Given the description of an element on the screen output the (x, y) to click on. 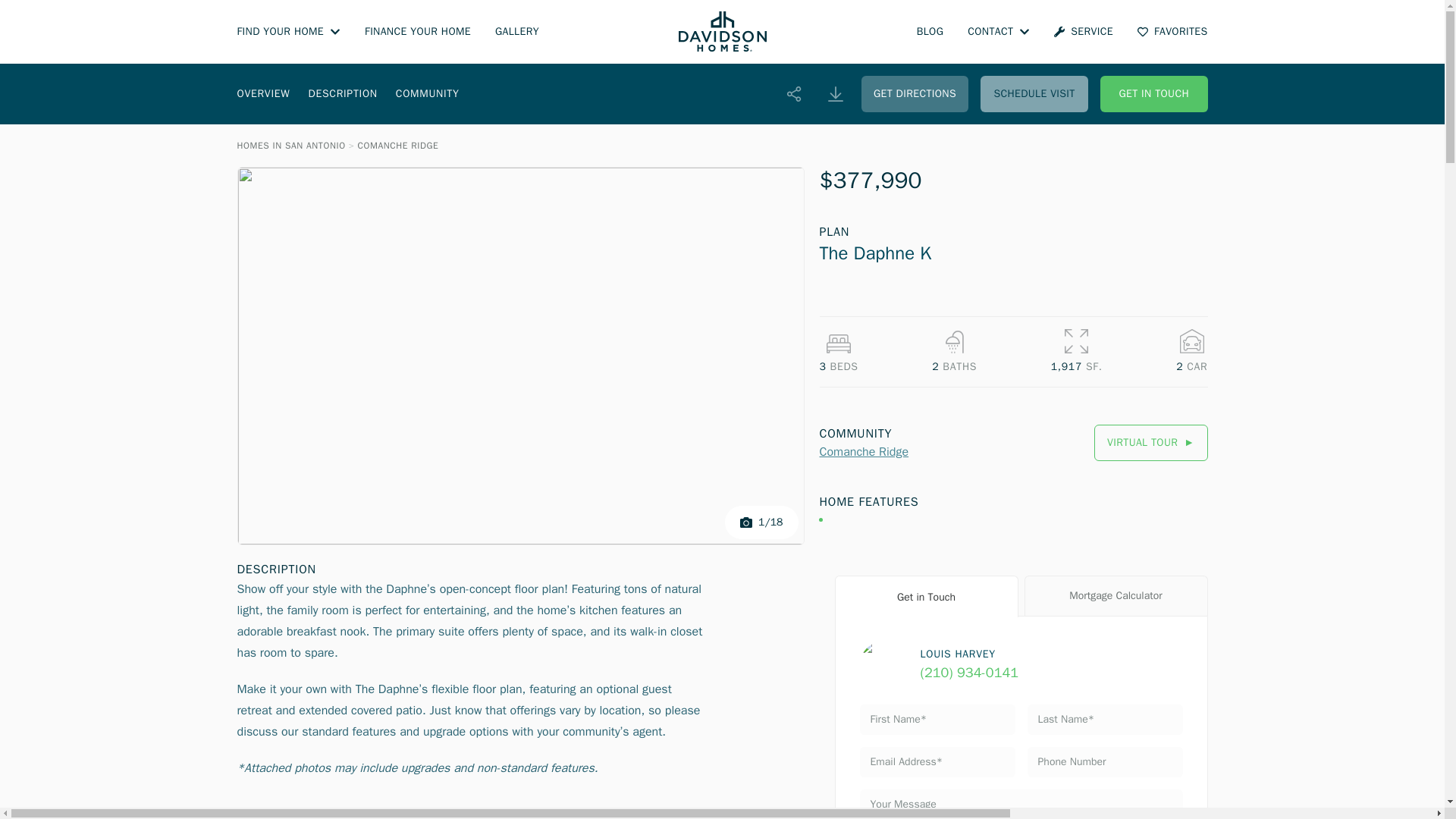
GALLERY (516, 31)
FAVORITES (1172, 31)
Download Brochure (835, 94)
COMANCHE RIDGE (397, 145)
SCHEDULE VISIT (1033, 94)
GET IN TOUCH (1154, 94)
FINANCE YOUR HOME (417, 31)
DESCRIPTION (342, 92)
HOMES IN SAN ANTONIO (290, 145)
OVERVIEW (262, 92)
GET DIRECTIONS (915, 94)
COMMUNITY (428, 92)
BLOG (930, 31)
CONTACT (998, 31)
SERVICE (1083, 31)
